Given the description of an element on the screen output the (x, y) to click on. 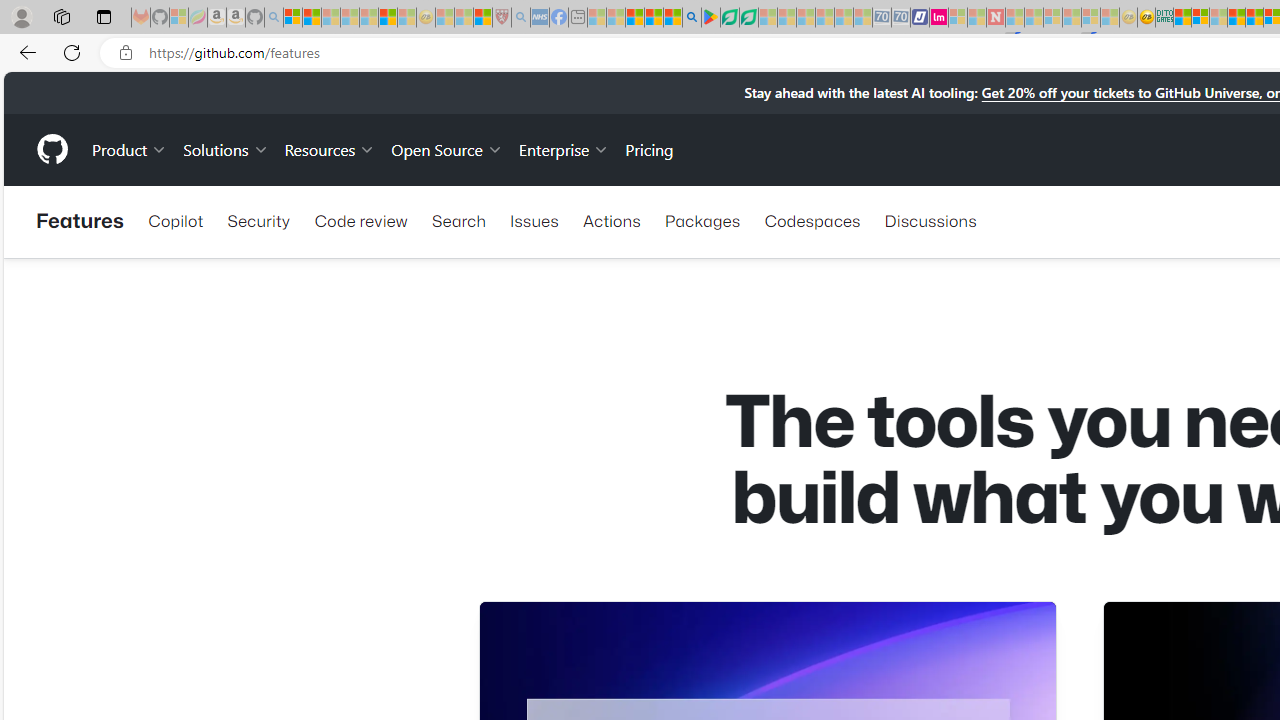
Code review (360, 220)
Solutions (225, 148)
